Given the description of an element on the screen output the (x, y) to click on. 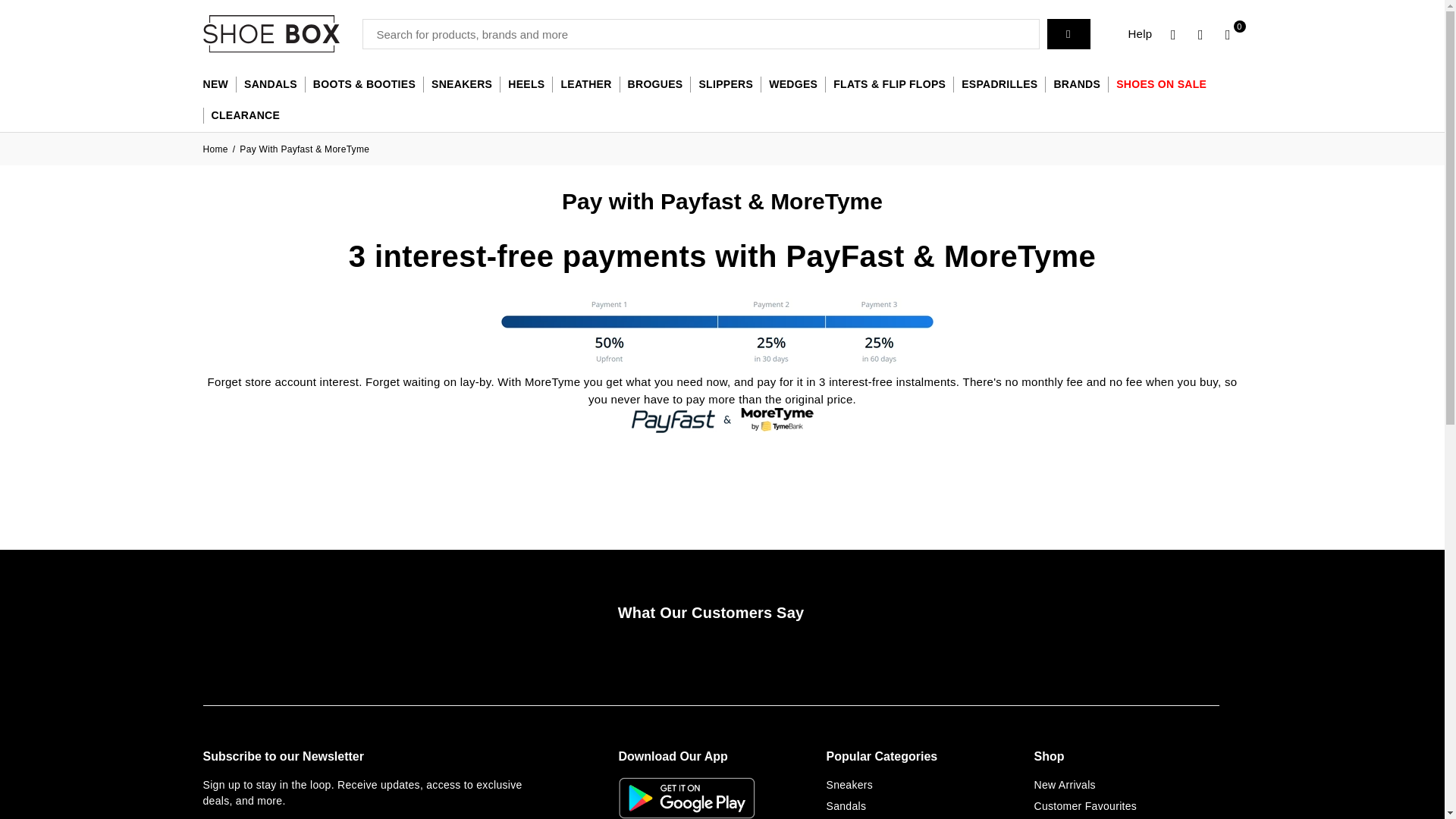
HEELS (525, 84)
Cart (1227, 33)
New Shoes (219, 84)
Women's Leather Shoes (584, 84)
ESPADRILLES (999, 84)
BRANDS (1076, 84)
SLIPPERS (725, 84)
Women's Sneakers (461, 84)
SUBMIT (1067, 33)
Women's Heels (525, 84)
